Given the description of an element on the screen output the (x, y) to click on. 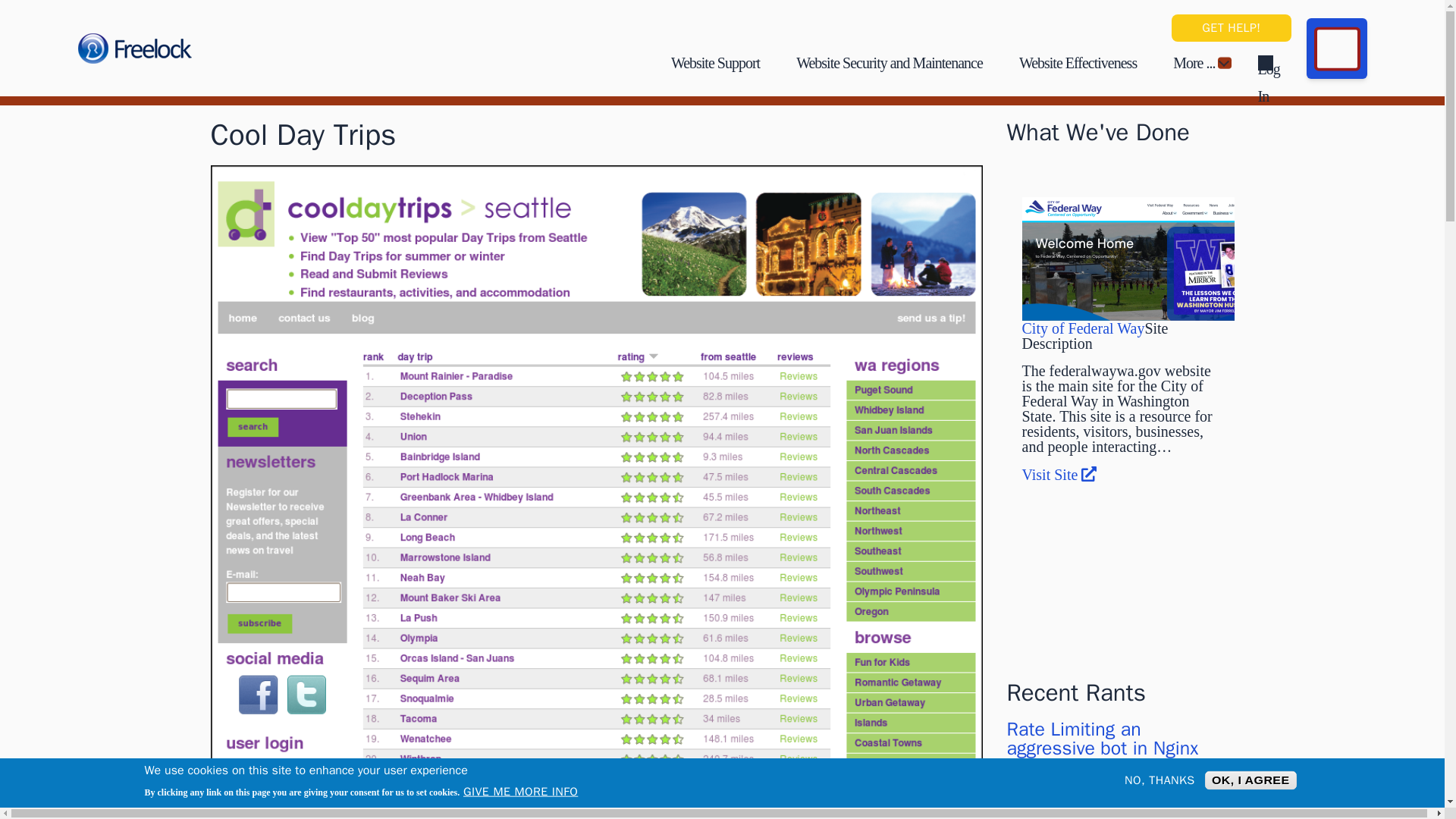
City of Federal Way (1083, 328)
Website Support (715, 62)
Search (1336, 49)
Visit Site (1059, 474)
Search (1336, 49)
Log In (1264, 62)
Website Security and Maintenance (889, 62)
GET HELP! (1231, 27)
Website Effectiveness (1078, 62)
